Given the description of an element on the screen output the (x, y) to click on. 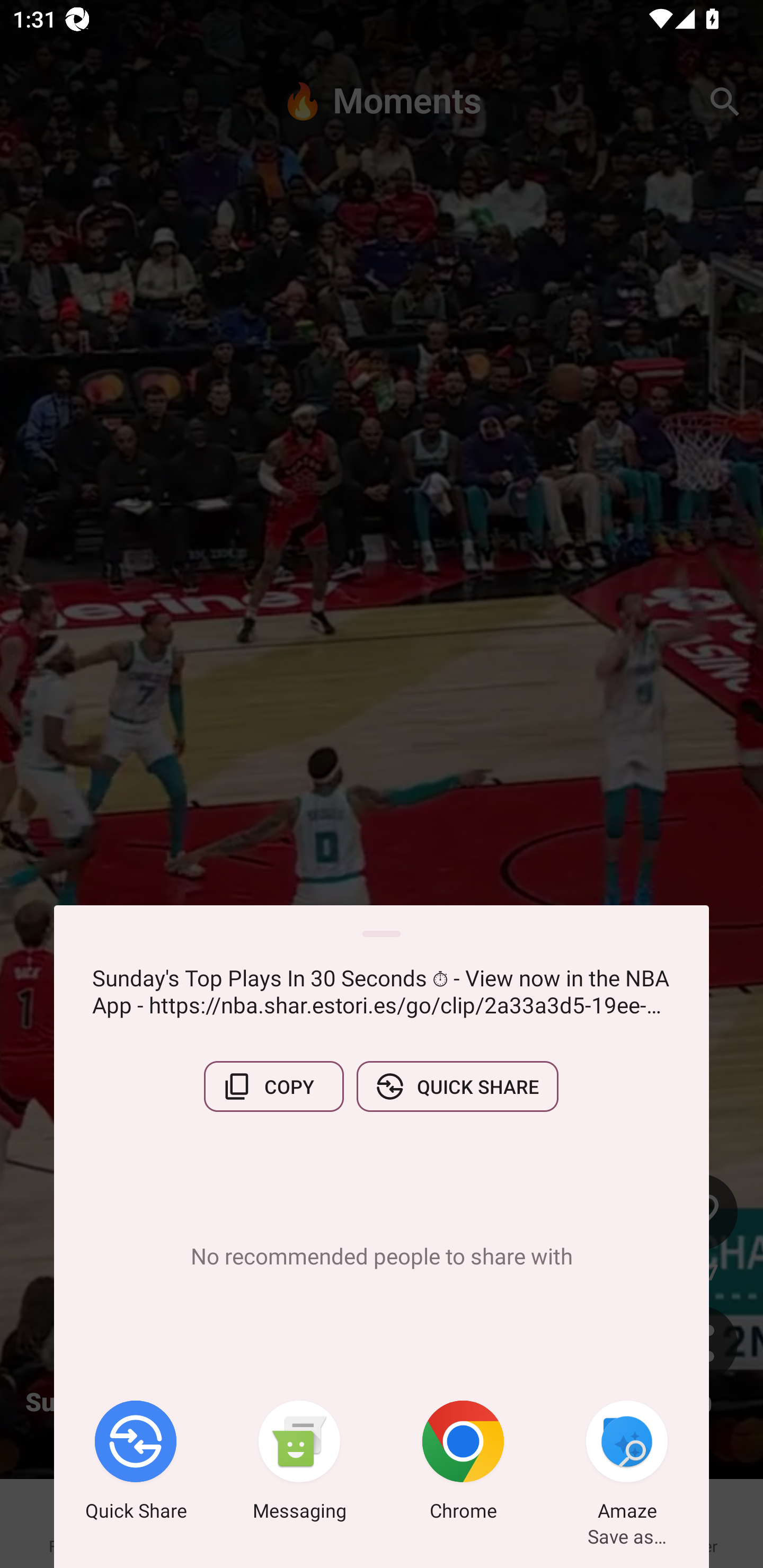
COPY (273, 1086)
QUICK SHARE (457, 1086)
Quick Share (135, 1463)
Messaging (299, 1463)
Chrome (463, 1463)
Amaze Save as… (626, 1463)
